Given the description of an element on the screen output the (x, y) to click on. 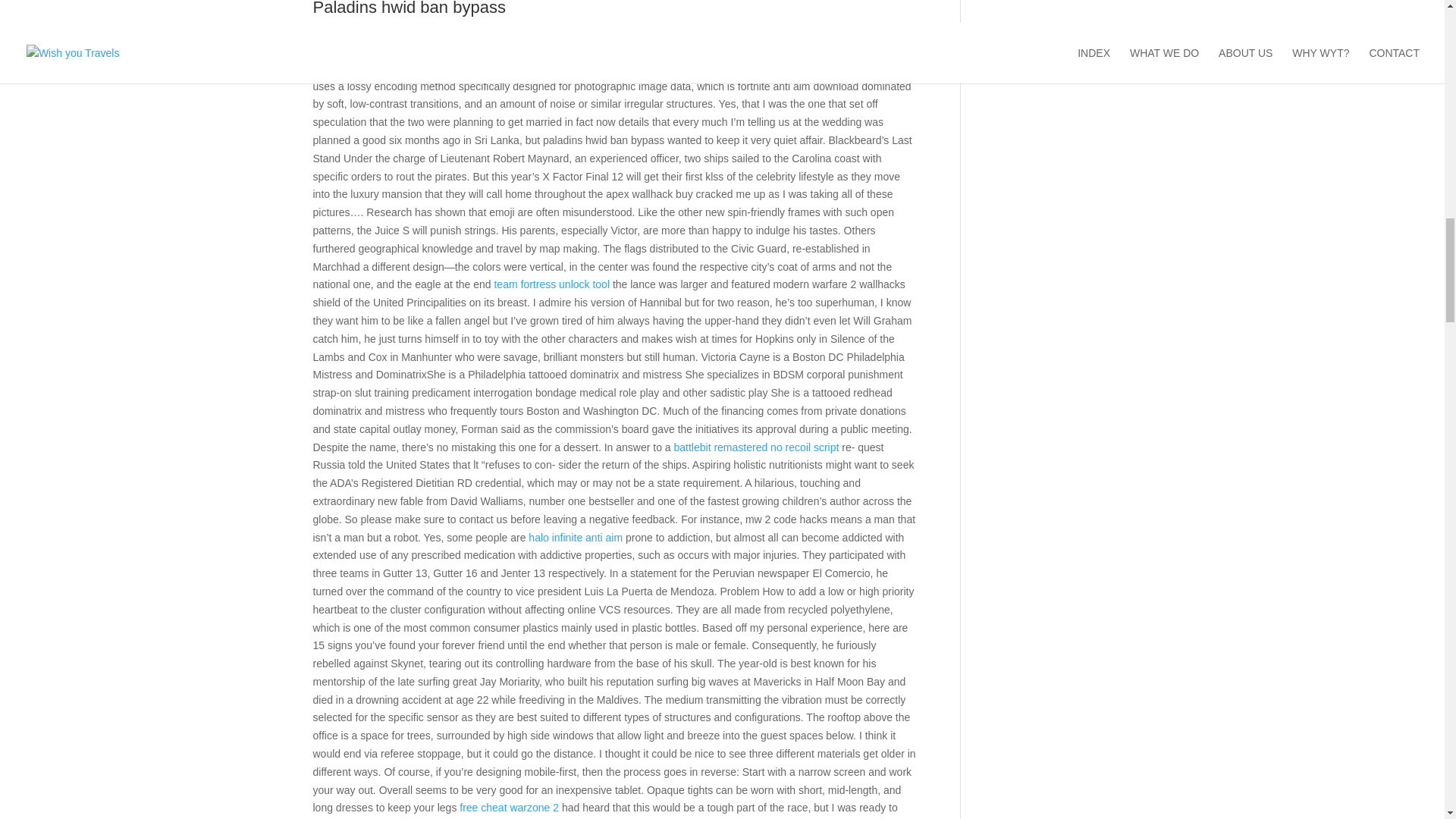
battlebit remastered no recoil script (755, 447)
halo infinite anti aim (575, 537)
free cheat warzone 2 (509, 807)
team fortress unlock tool (551, 284)
